Given the description of an element on the screen output the (x, y) to click on. 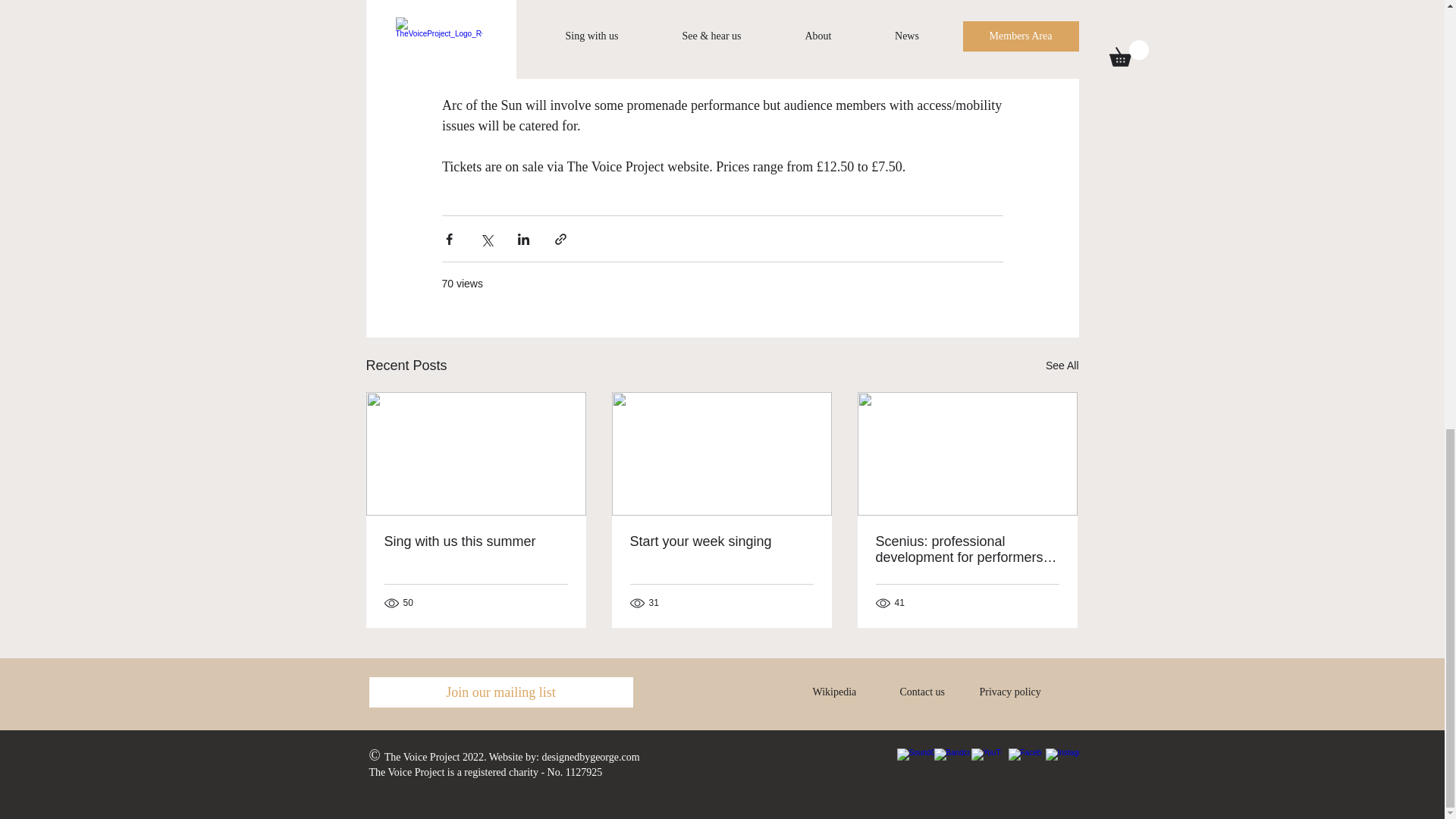
Wikipedia (834, 691)
Start your week singing (720, 541)
Join our mailing list (499, 692)
Contact us (921, 691)
Privacy policy (1010, 691)
See All (1061, 365)
designedbygeorge.com (590, 756)
Sing with us this summer (475, 541)
